Given the description of an element on the screen output the (x, y) to click on. 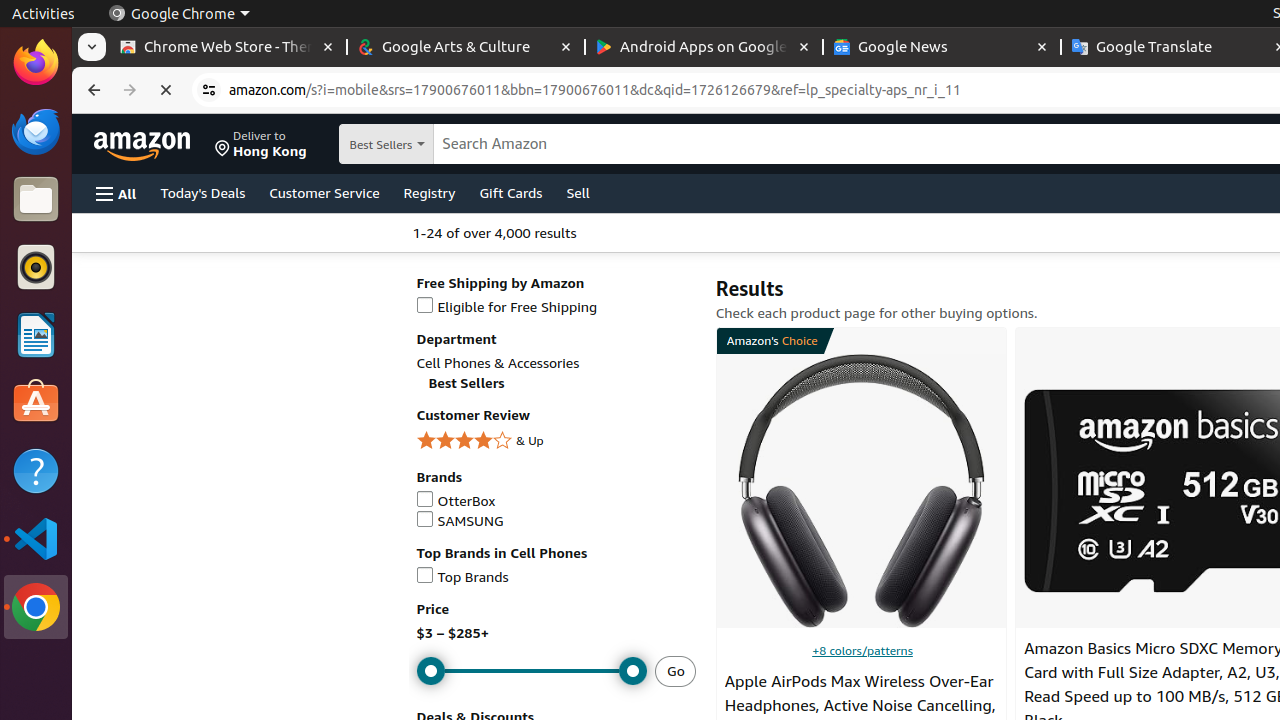
Registry Element type: link (429, 192)
Sell Element type: link (578, 192)
Gift Cards Element type: link (511, 192)
Reload Element type: push-button (166, 90)
Customer Service Element type: link (324, 192)
